Given the description of an element on the screen output the (x, y) to click on. 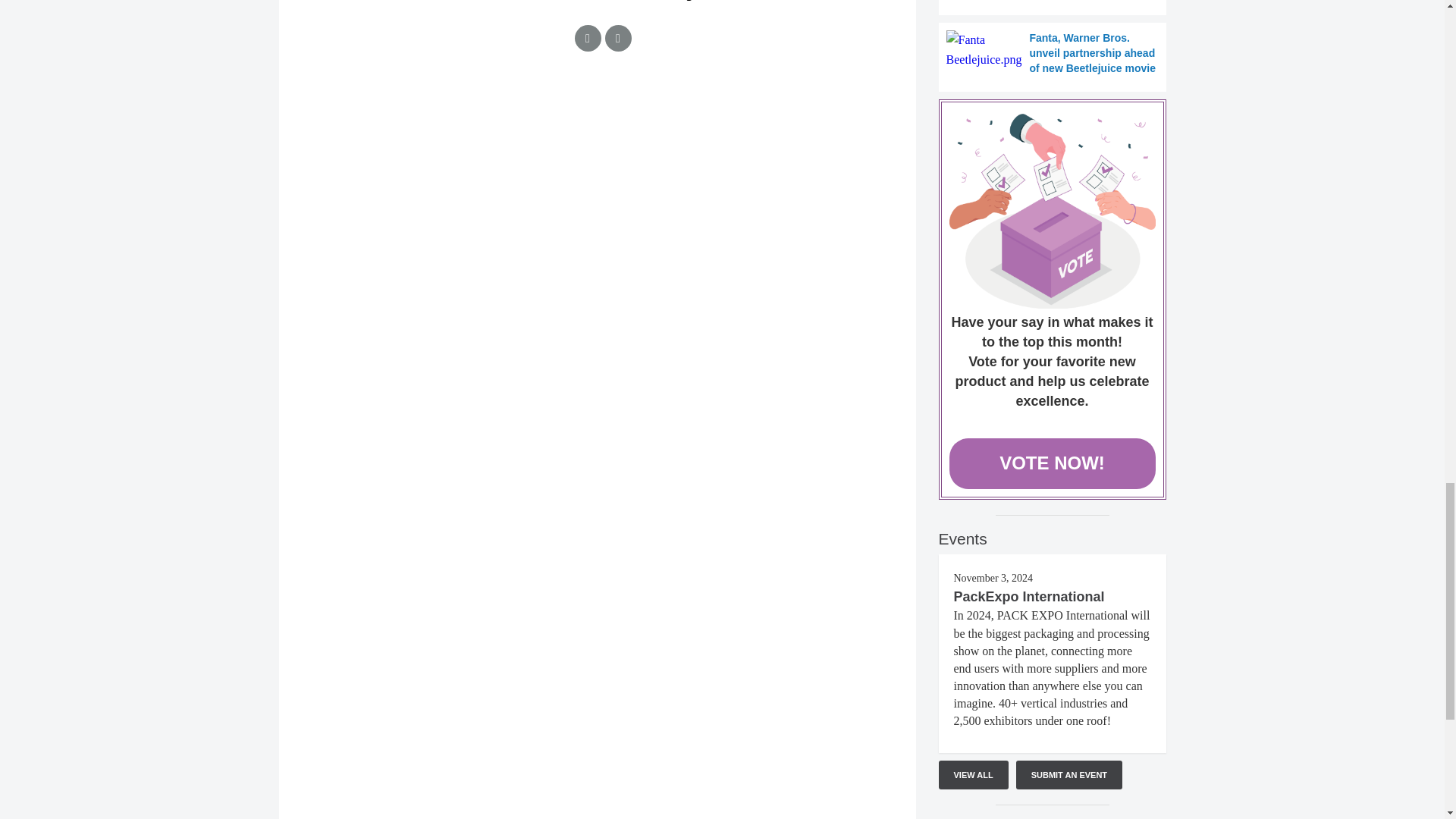
PackExpo International (1029, 596)
Vote (1052, 210)
